Given the description of an element on the screen output the (x, y) to click on. 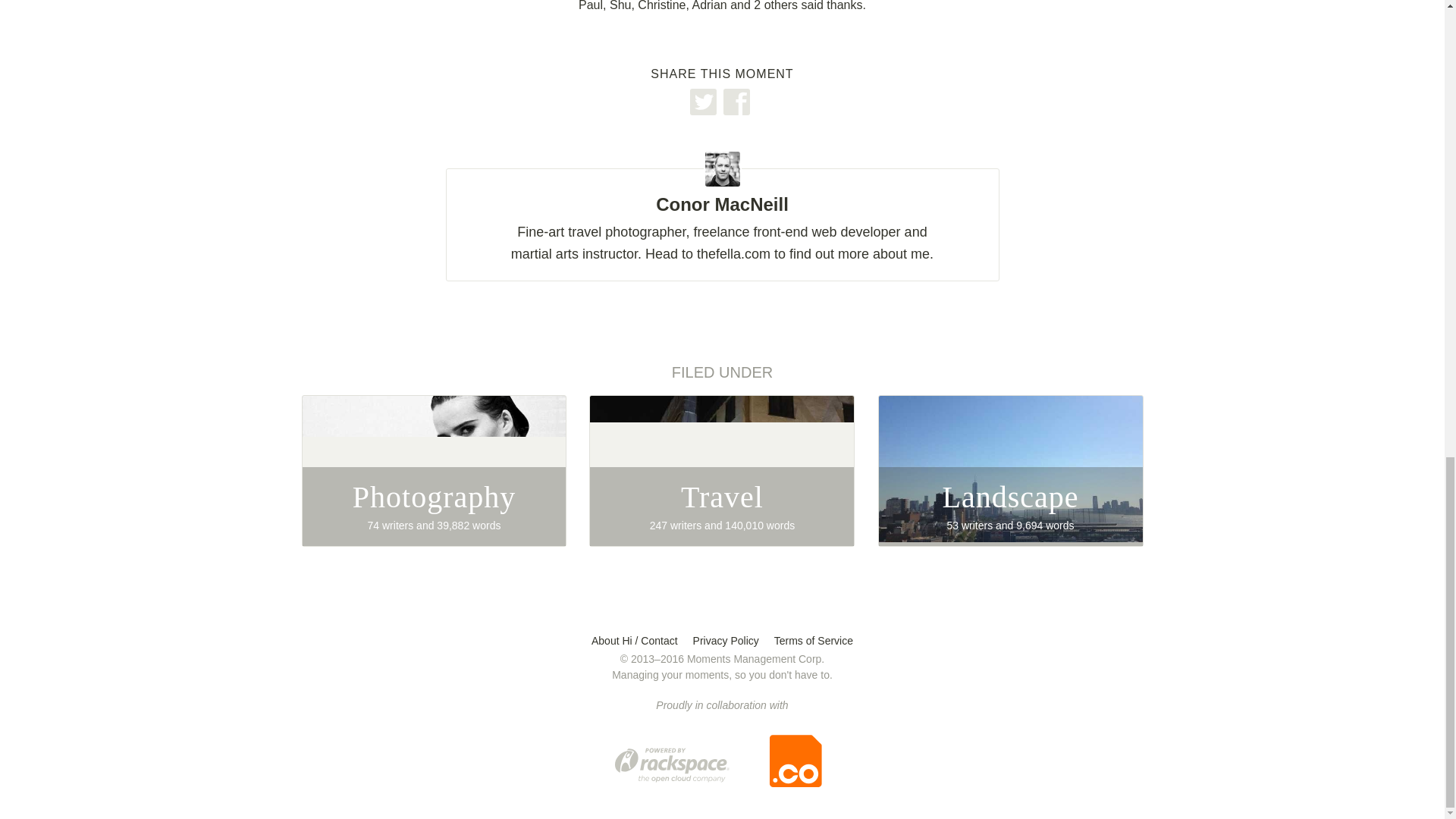
Conor MacNeill (1009, 470)
